Given the description of an element on the screen output the (x, y) to click on. 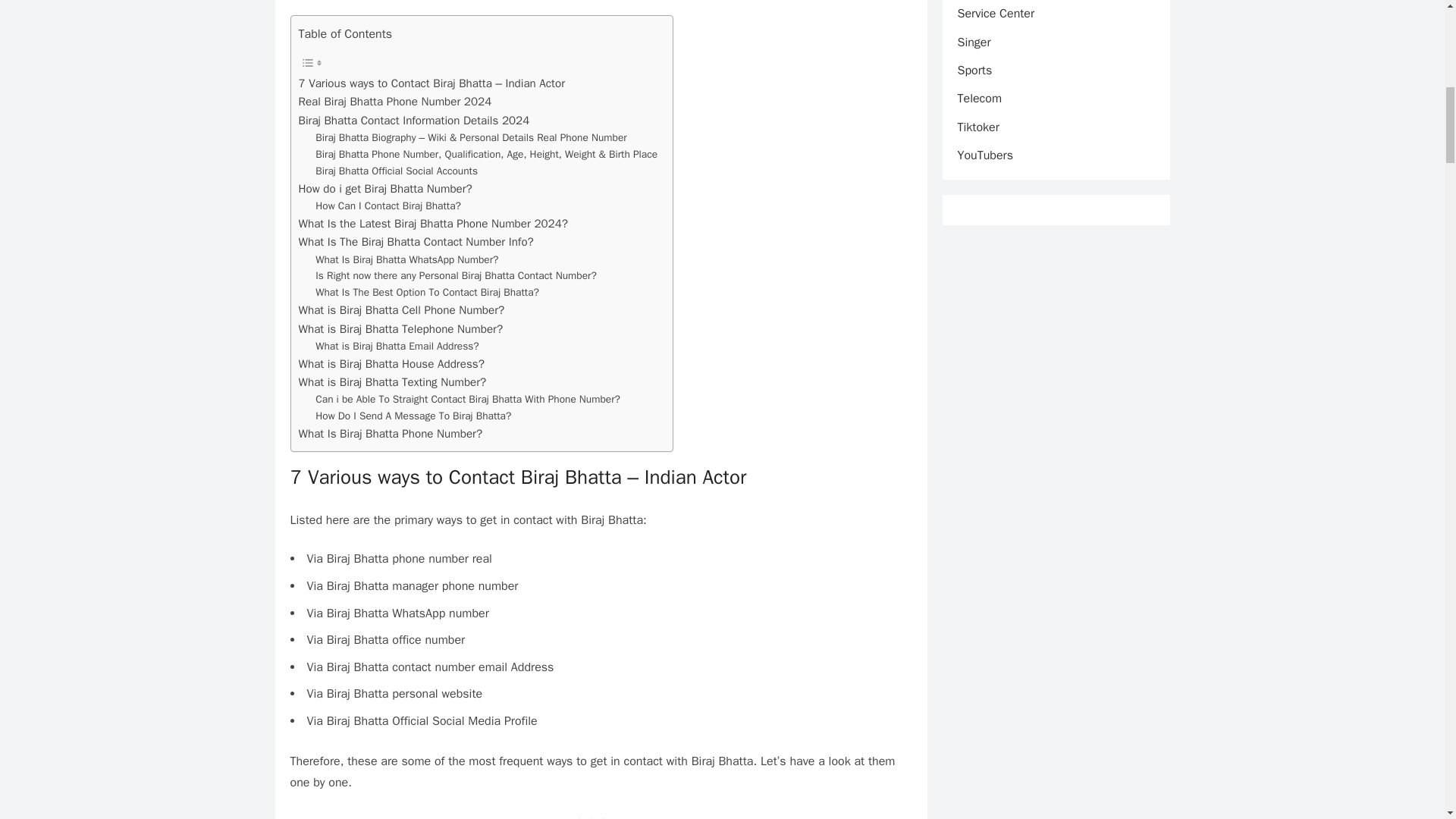
What Is the Latest Biraj Bhatta Phone Number 2024? (433, 223)
What Is the Latest Biraj Bhatta Phone Number 2024? (433, 223)
How do i get Biraj Bhatta Number? (384, 188)
How Can I Contact Biraj Bhatta? (388, 206)
How Can I Contact Biraj Bhatta? (388, 206)
Is Right now there any Personal Biraj Bhatta Contact Number? (455, 275)
How do i get Biraj Bhatta Number? (384, 188)
What Is Biraj Bhatta WhatsApp Number? (406, 259)
Biraj Bhatta Official Social Accounts (396, 170)
What is Biraj Bhatta Telephone Number? (400, 329)
Biraj Bhatta Contact Information Details 2024 (413, 120)
What is Biraj Bhatta Cell Phone Number? (401, 310)
Real Biraj Bhatta Phone Number 2024 (395, 101)
Biraj Bhatta Official Social Accounts (396, 170)
Biraj Bhatta Contact Information Details 2024 (413, 120)
